Given the description of an element on the screen output the (x, y) to click on. 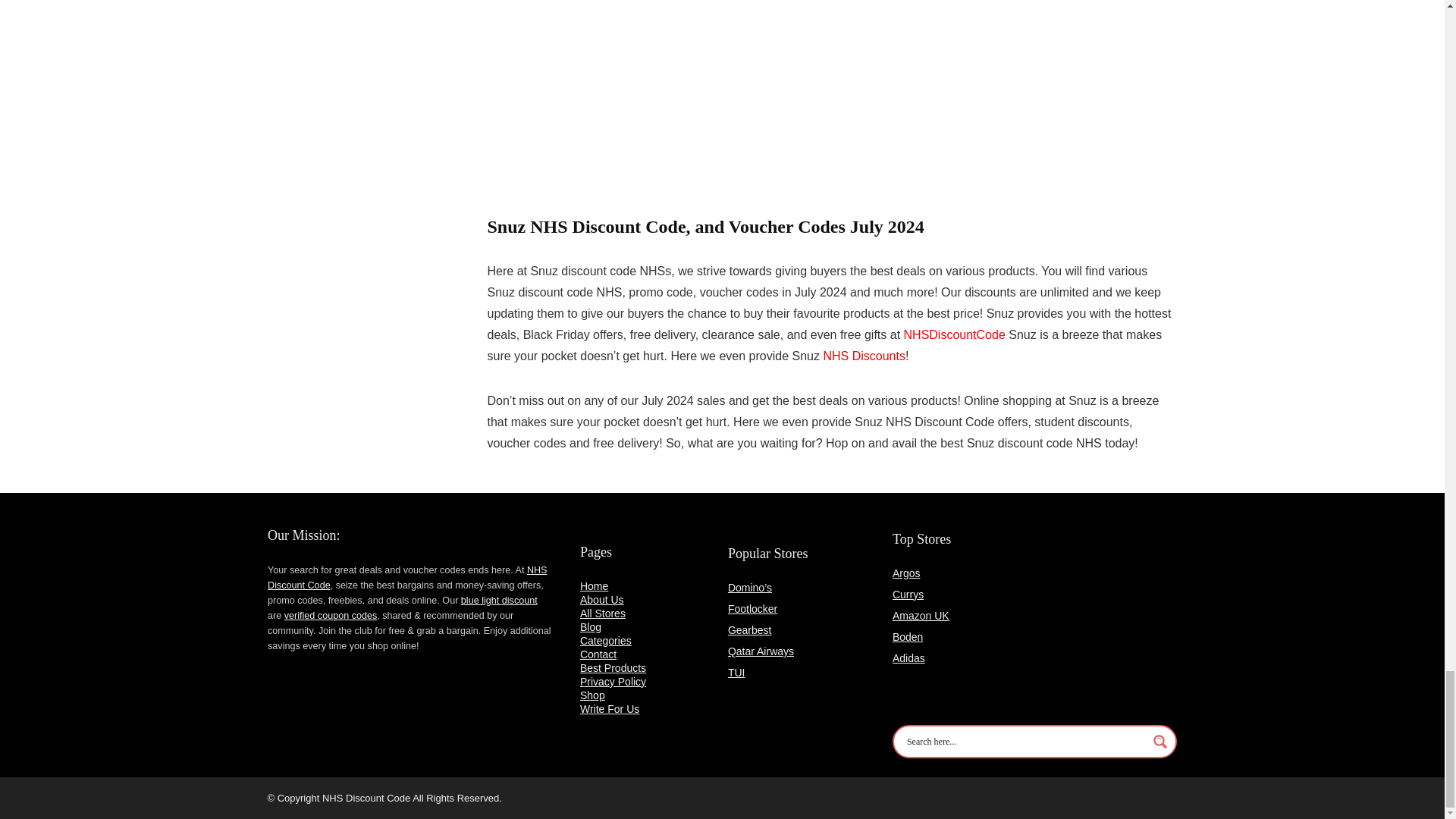
YouTube video player (698, 100)
